Given the description of an element on the screen output the (x, y) to click on. 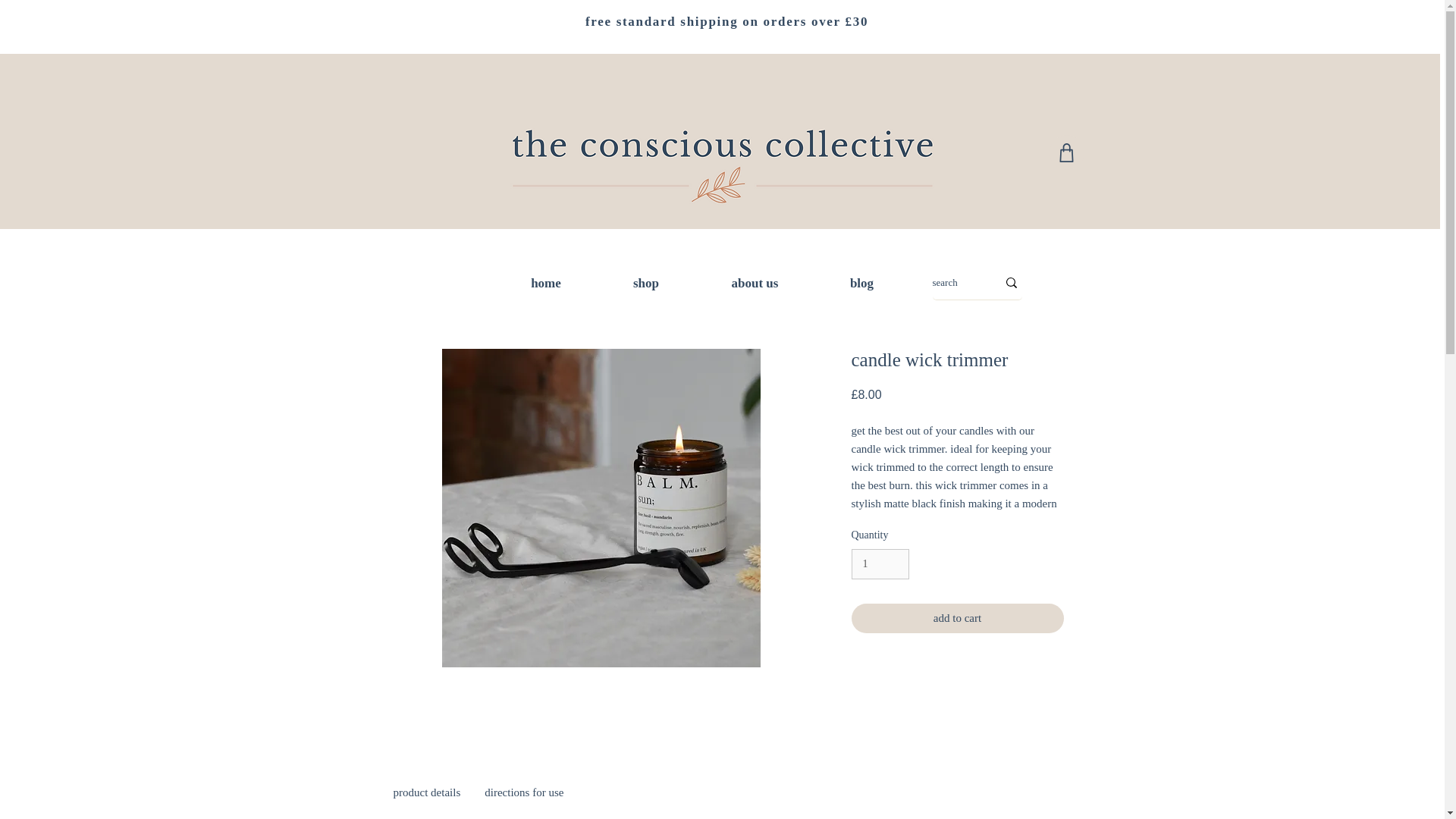
add to cart (956, 618)
Use right and left arrows to navigate between tabs (425, 792)
shop (645, 283)
Use right and left arrows to navigate between tabs (523, 792)
blog (861, 283)
home (546, 283)
about us (754, 283)
1 (879, 563)
